Given the description of an element on the screen output the (x, y) to click on. 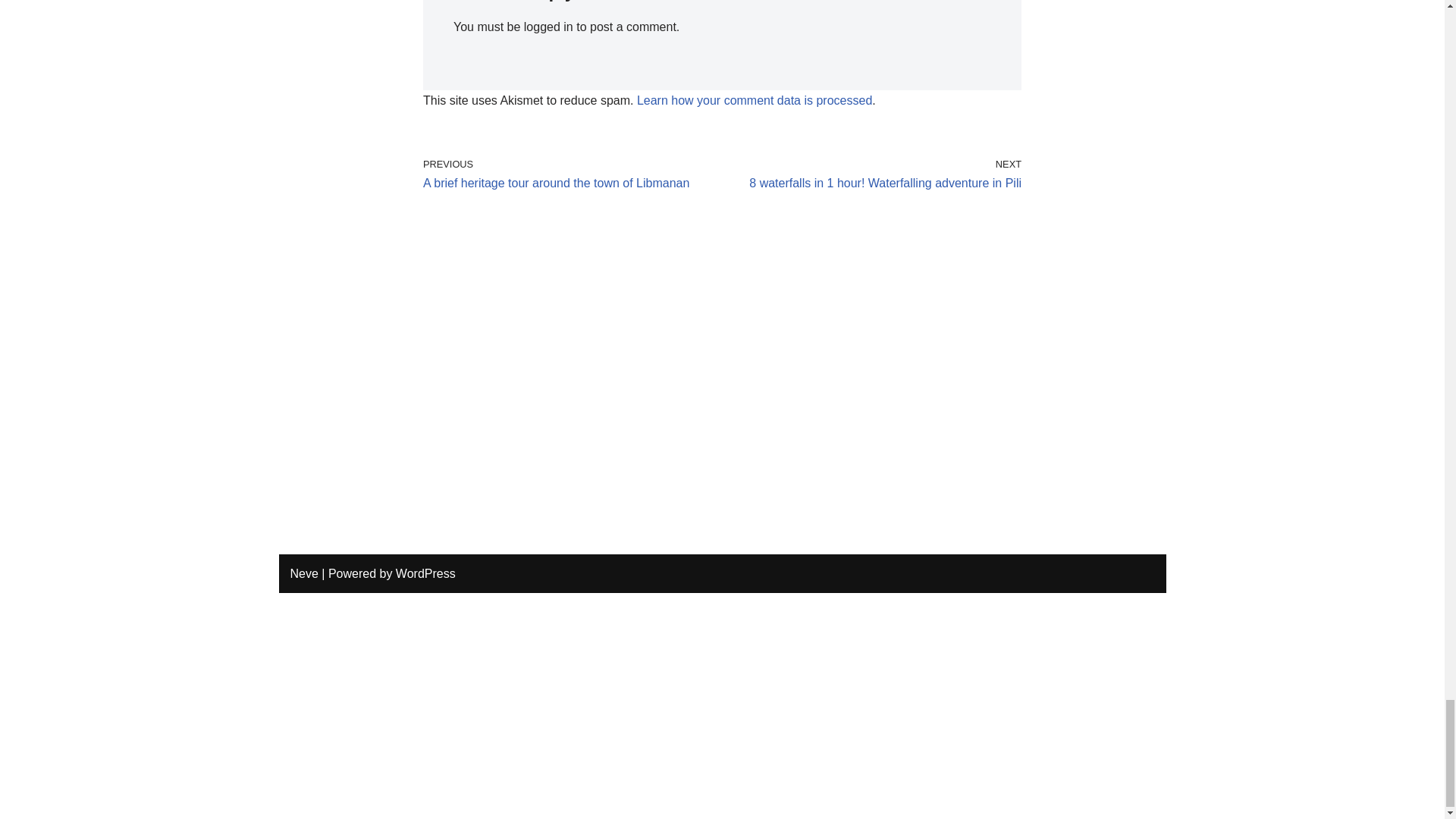
Neve (303, 573)
logged in (568, 174)
WordPress (548, 26)
Learn how your comment data is processed (875, 174)
